Given the description of an element on the screen output the (x, y) to click on. 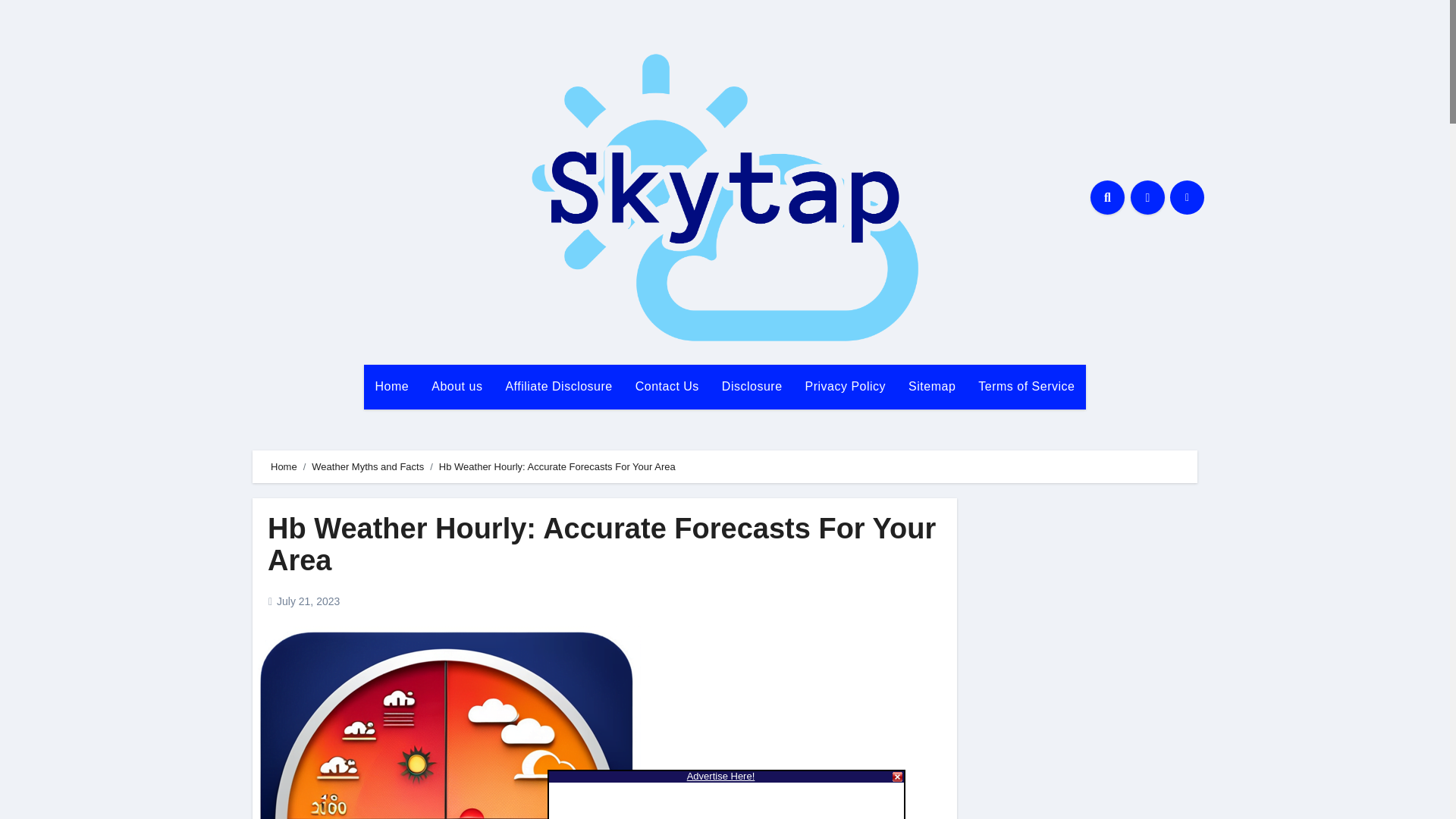
July 21, 2023 (307, 601)
Affiliate Disclosure (558, 386)
Disclosure (751, 386)
Sitemap (931, 386)
About us (456, 386)
Home (392, 386)
Terms of Service (1026, 386)
Contact Us (667, 386)
Home (392, 386)
Home (283, 466)
Advertise Here! (721, 776)
Hb Weather Hourly: Accurate Forecasts For Your Area (601, 544)
Privacy Policy (845, 386)
Weather Myths and Facts (367, 466)
